Given the description of an element on the screen output the (x, y) to click on. 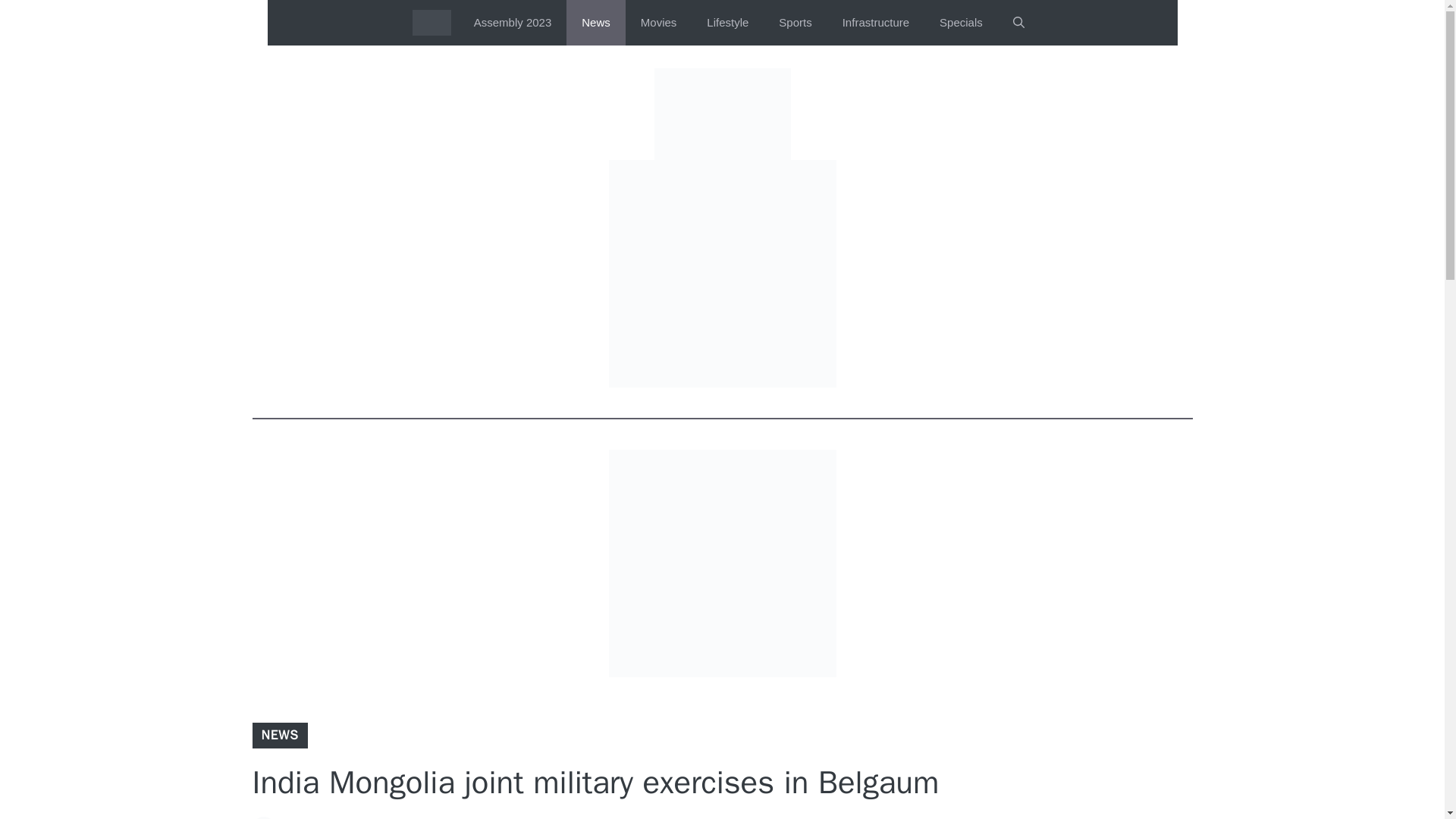
Lifestyle (726, 22)
News (596, 22)
All About Belgaum (431, 22)
Assembly 2023 (512, 22)
NEWS (279, 734)
Infrastructure (875, 22)
Movies (659, 22)
Sports (794, 22)
Specials (960, 22)
